Given the description of an element on the screen output the (x, y) to click on. 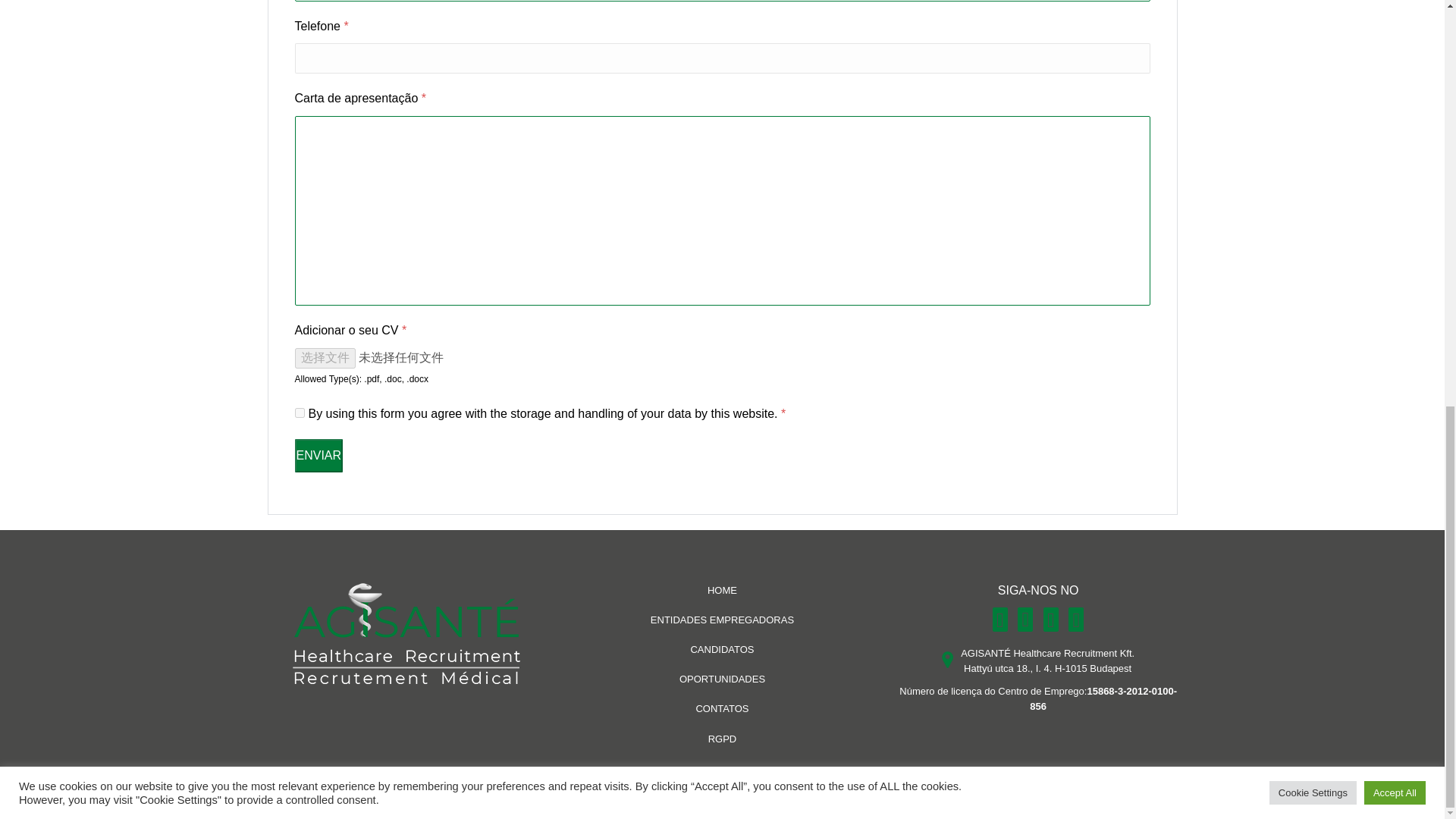
Instagram (1075, 619)
Linkedin (999, 619)
Facebook (1050, 619)
Enviar (318, 455)
ENTIDADES EMPREGADORAS (721, 620)
HOME (721, 590)
Enviar (318, 455)
yes (299, 412)
Youtube (1024, 619)
